Given the description of an element on the screen output the (x, y) to click on. 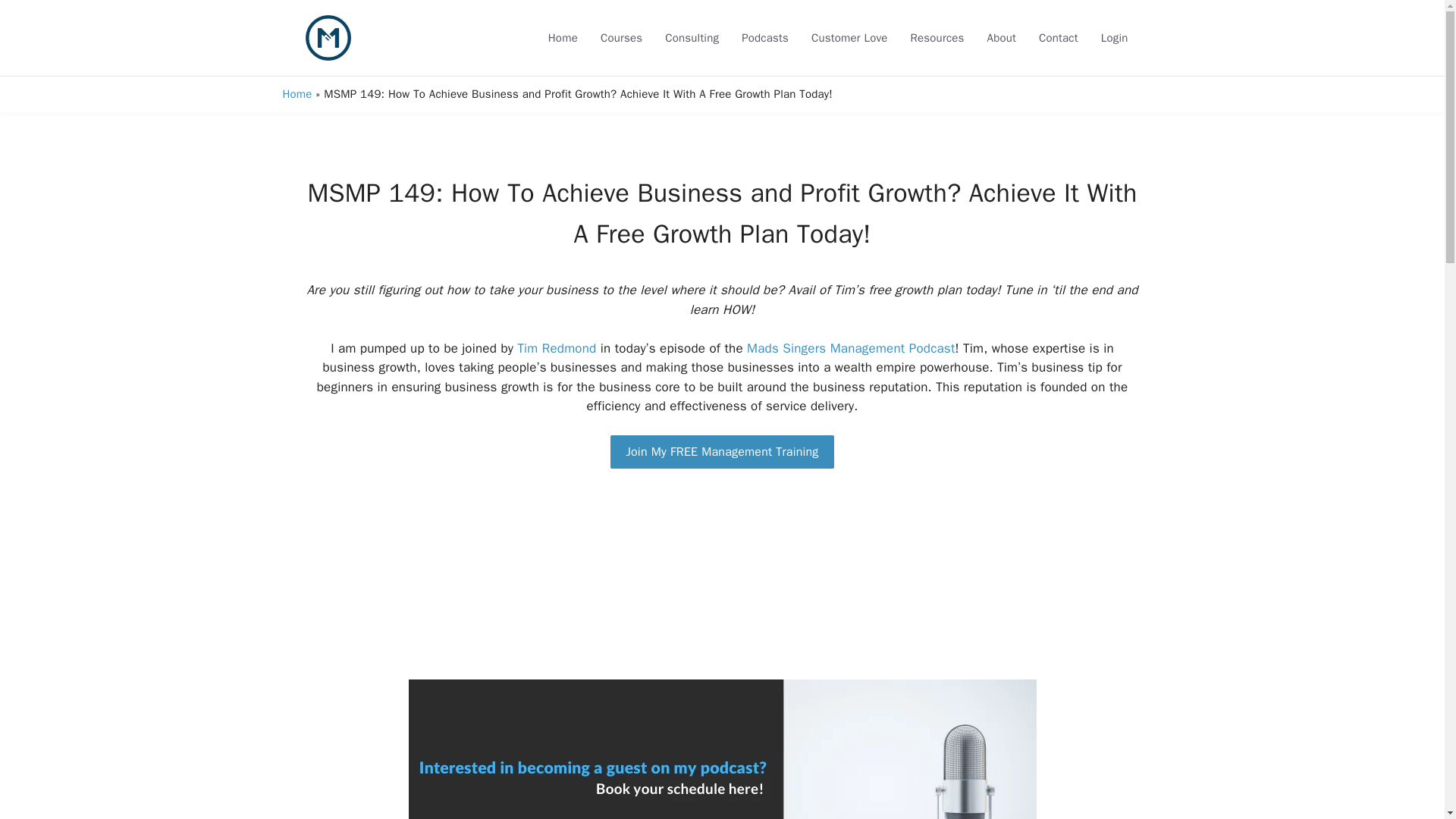
Customer Love (849, 37)
Podcasts (764, 37)
Home (296, 93)
Resources (937, 37)
Contact (1058, 37)
Mads Singers Management Podcast (850, 348)
Consulting (691, 37)
Courses (621, 37)
Tim Redmond (555, 348)
